Given the description of an element on the screen output the (x, y) to click on. 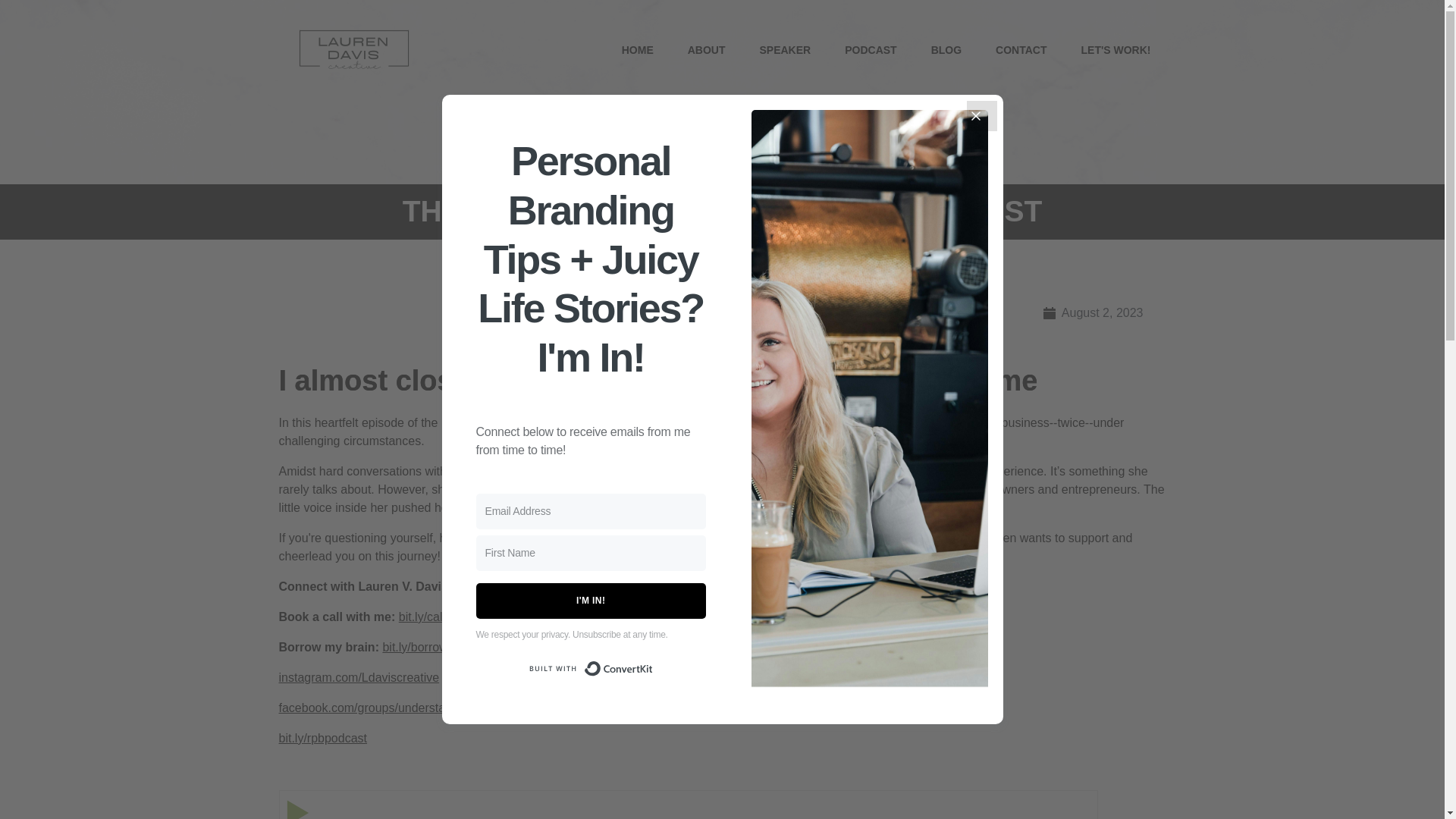
BLOG (946, 50)
LET'S WORK! (1115, 50)
SPEAKER (784, 50)
ABOUT (706, 50)
CONTACT (1020, 50)
HOME (637, 50)
PODCAST (870, 50)
